Given the description of an element on the screen output the (x, y) to click on. 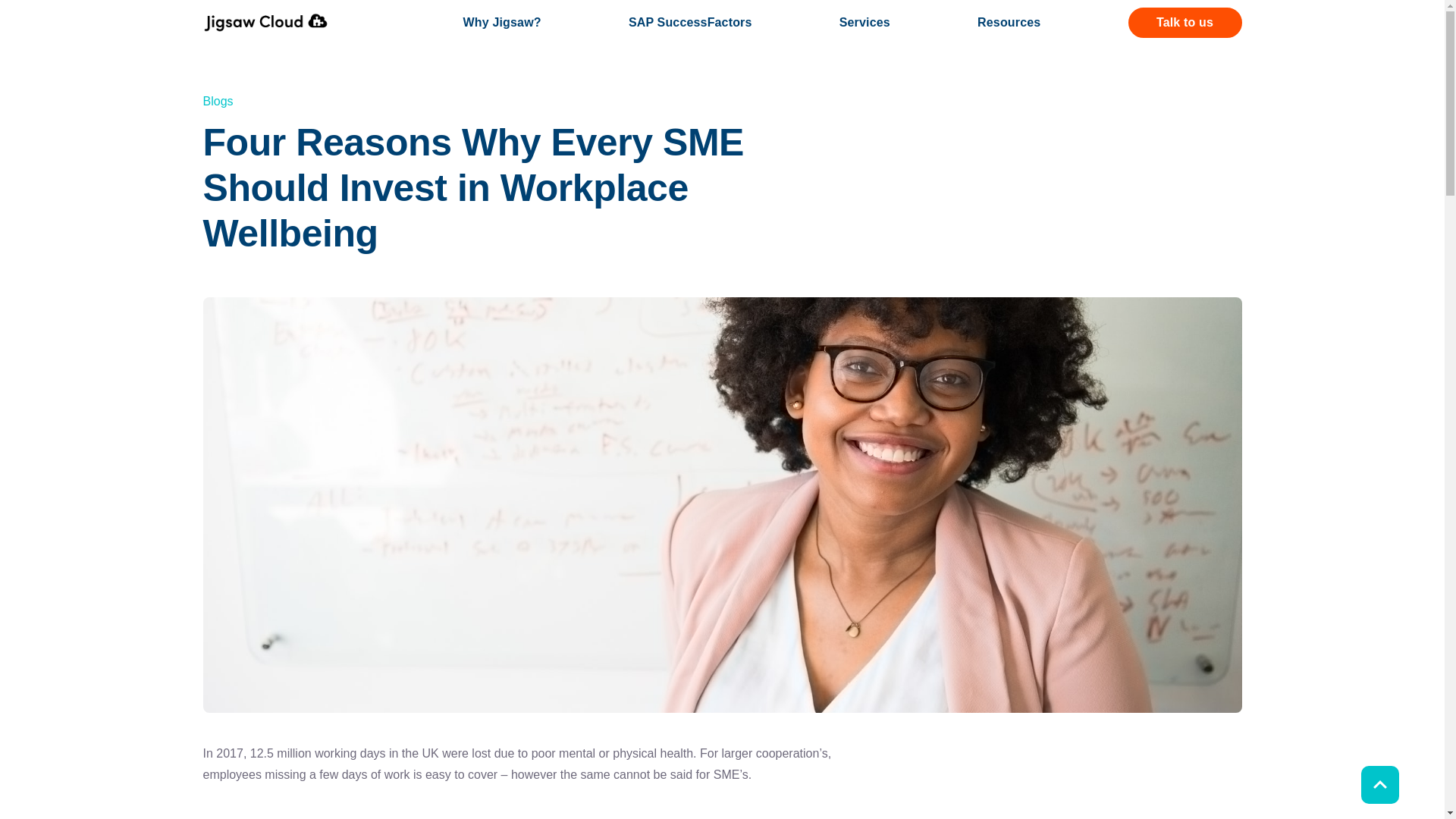
Services (864, 21)
Why Jigsaw? (502, 21)
Talk to us (1184, 22)
SAP SuccessFactors (690, 21)
Resources (1008, 21)
